Given the description of an element on the screen output the (x, y) to click on. 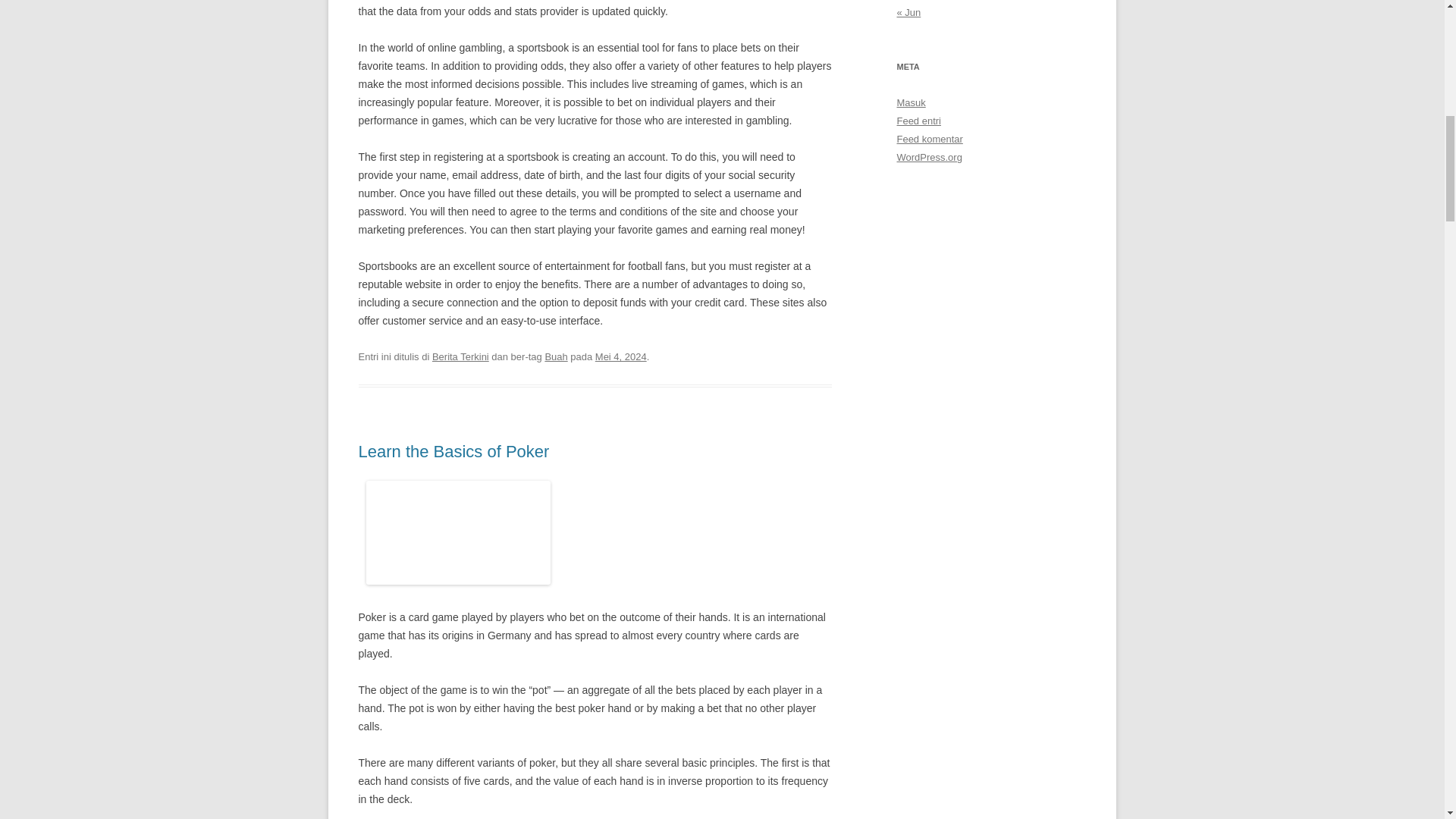
Learn the Basics of Poker (453, 451)
Mei 4, 2024 (620, 356)
Berita Terkini (460, 356)
Buah (555, 356)
7:01 pm (620, 356)
